Given the description of an element on the screen output the (x, y) to click on. 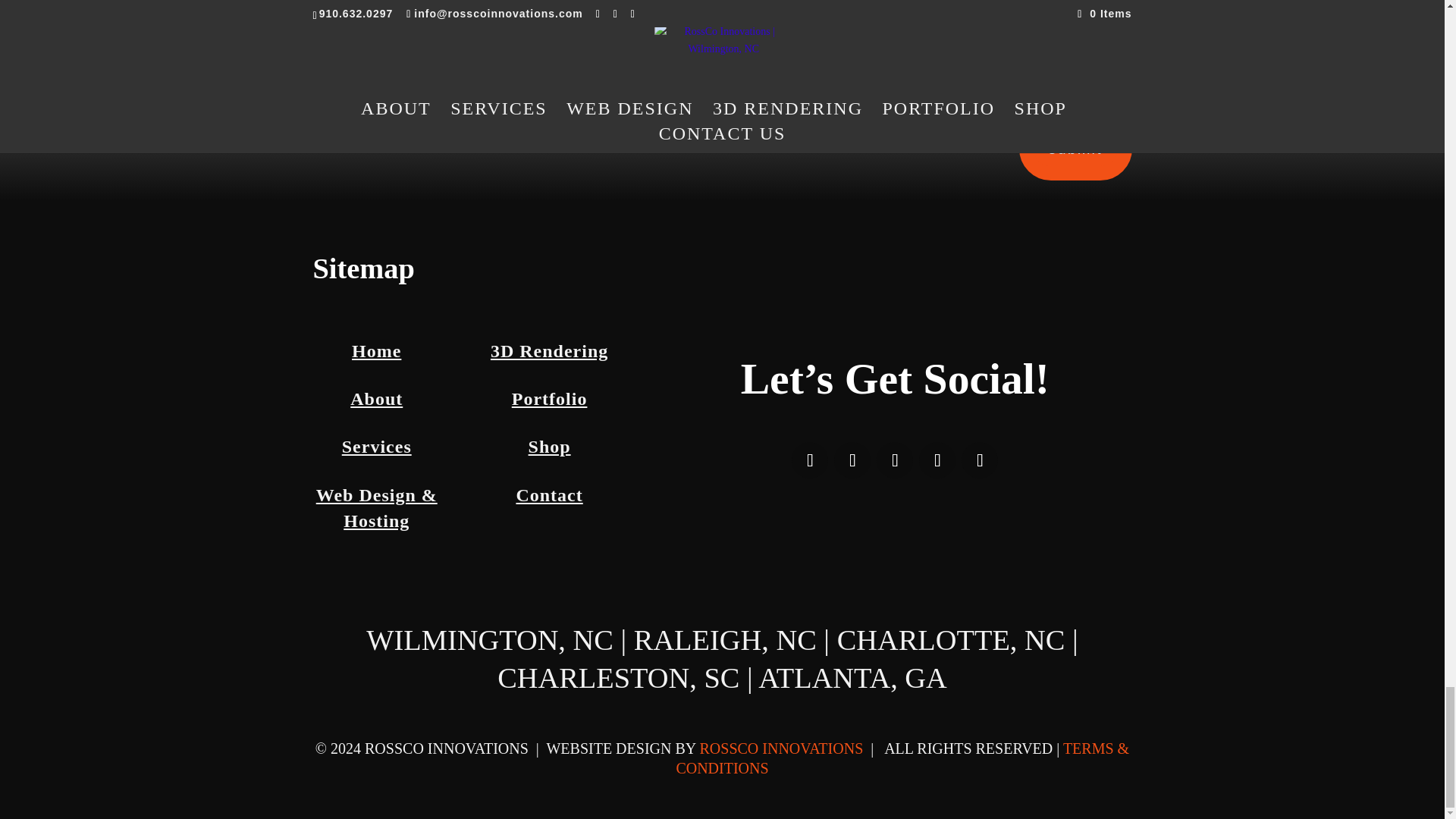
submit (1075, 148)
Contact (548, 495)
Contact Page for ROSSCO (549, 446)
Contact Us Page for ROSSCO (548, 495)
Follow on Instagram (894, 460)
Home (376, 351)
Website Hosting, Design and Development for ROSSCO (376, 508)
Homepage for RossCo Innovations (376, 351)
Follow on LinkedIn (978, 460)
Services (377, 446)
About Page for RossCo Innovations (376, 398)
3D Rendering Page for ROSSCO (549, 351)
Shop (549, 446)
About (376, 398)
Follow on Facebook (810, 460)
